Given the description of an element on the screen output the (x, y) to click on. 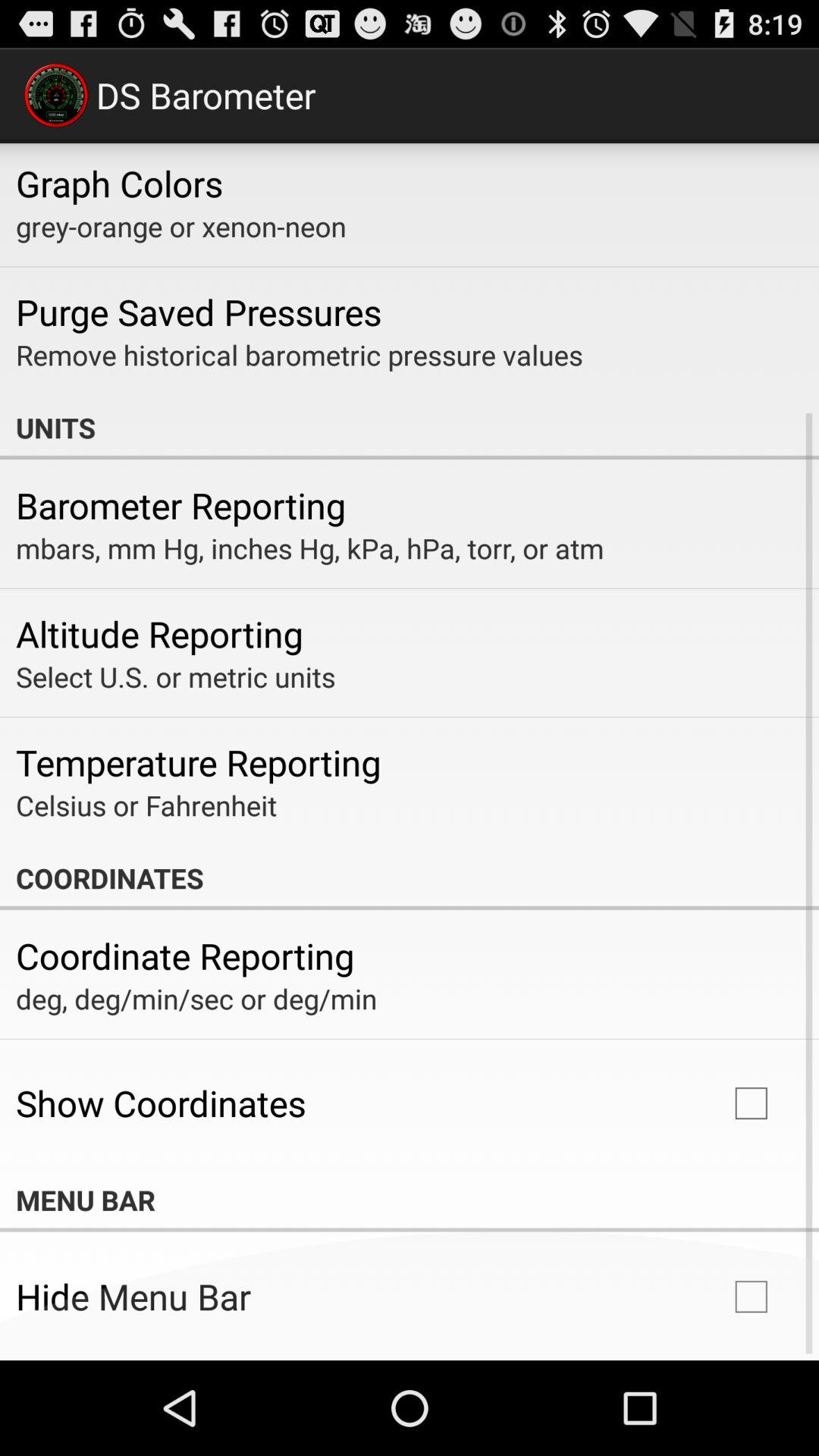
jump to the temperature reporting item (198, 762)
